Given the description of an element on the screen output the (x, y) to click on. 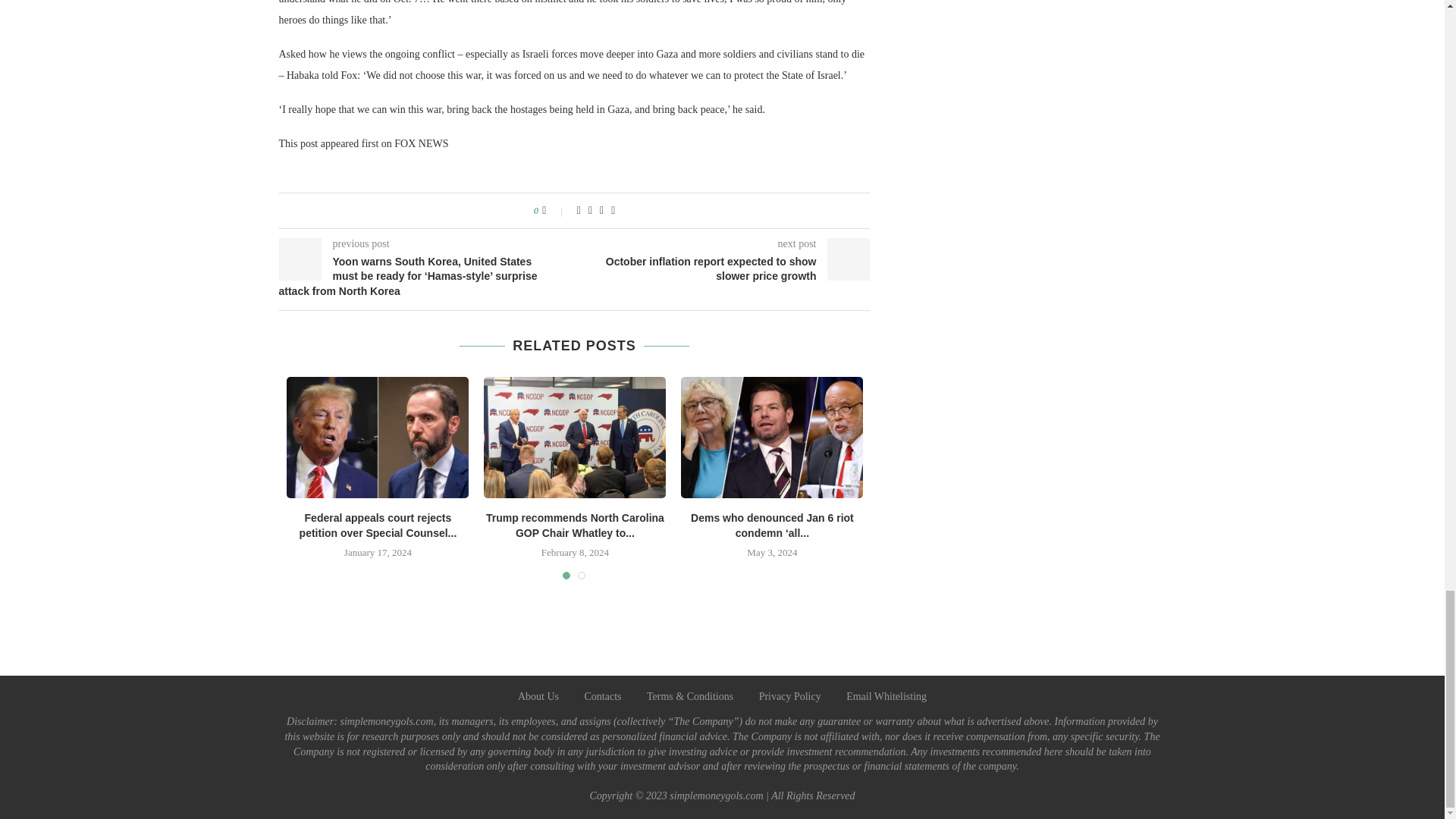
Like (553, 210)
Trump recommends North Carolina GOP Chair Whatley to... (574, 524)
